Given the description of an element on the screen output the (x, y) to click on. 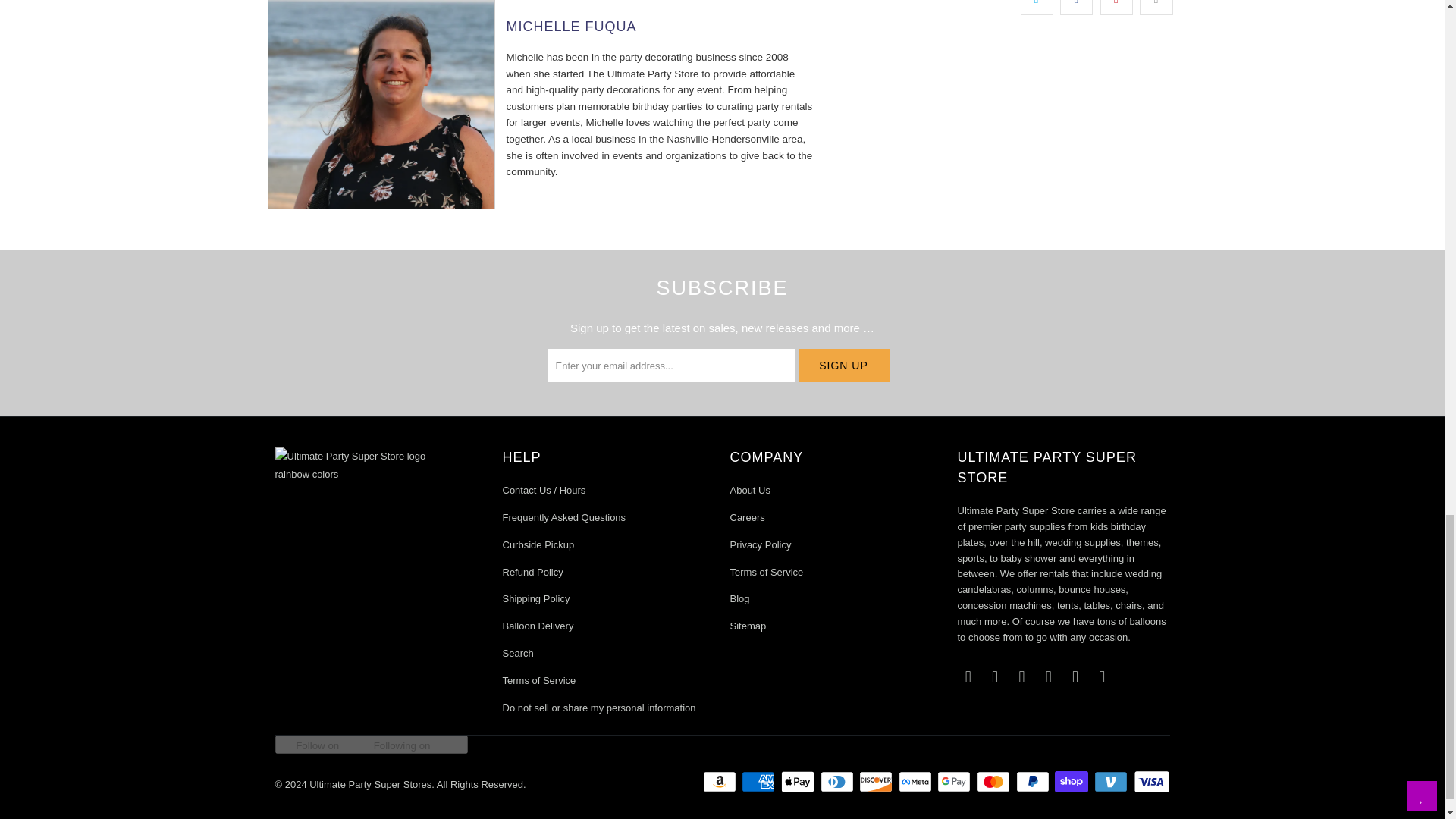
PayPal (1034, 781)
Meta Pay (916, 781)
Apple Pay (798, 781)
Discover (877, 781)
Mastercard (994, 781)
Venmo (1112, 781)
Share this on Twitter (1036, 7)
Sign Up (842, 365)
Diners Club (839, 781)
American Express (759, 781)
Visa (1150, 781)
Amazon (721, 781)
Google Pay (955, 781)
Share this on Facebook (1076, 7)
Shop Pay (1072, 781)
